Given the description of an element on the screen output the (x, y) to click on. 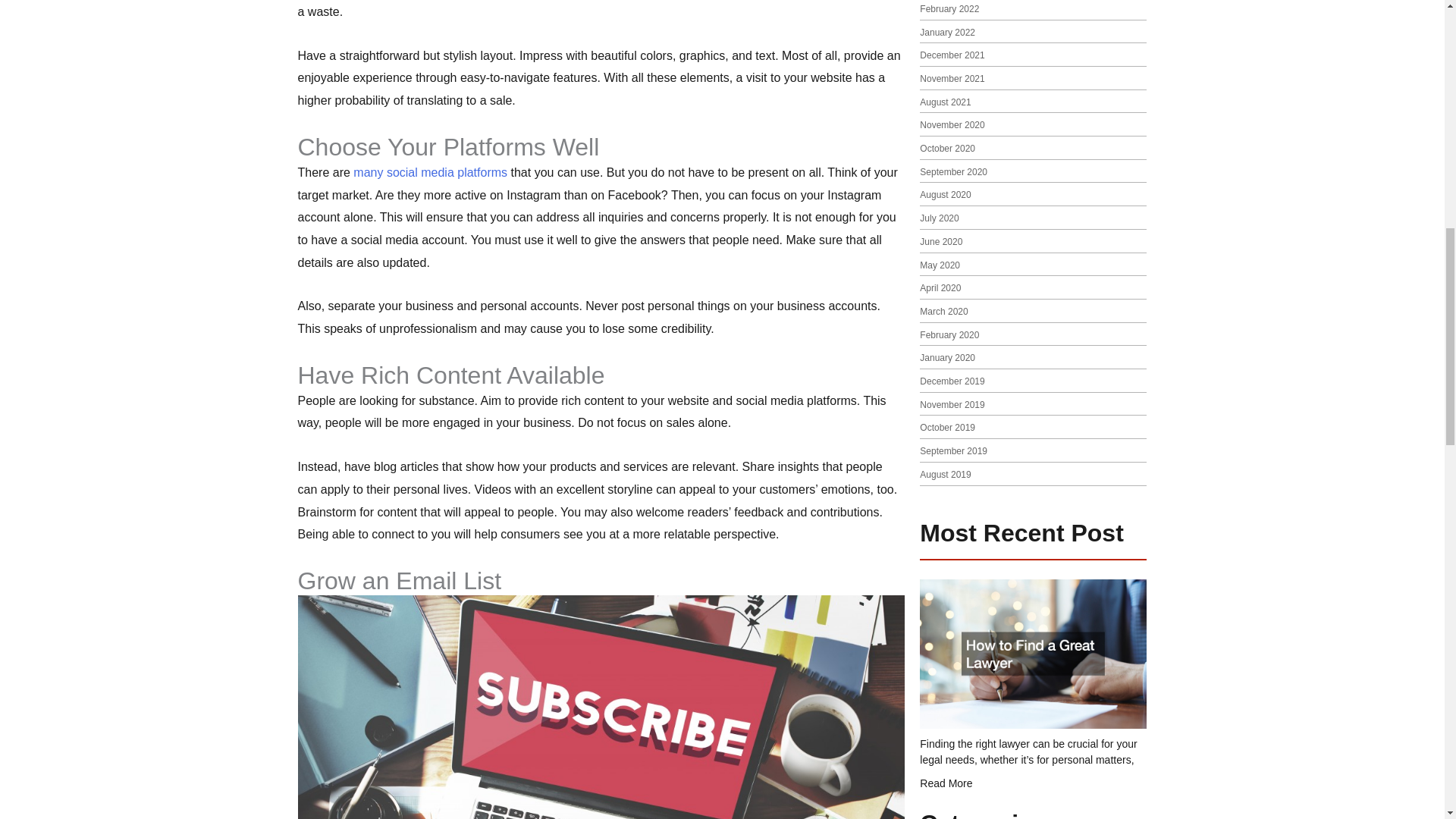
many social media platforms (429, 172)
Business Victoria (429, 172)
